Given the description of an element on the screen output the (x, y) to click on. 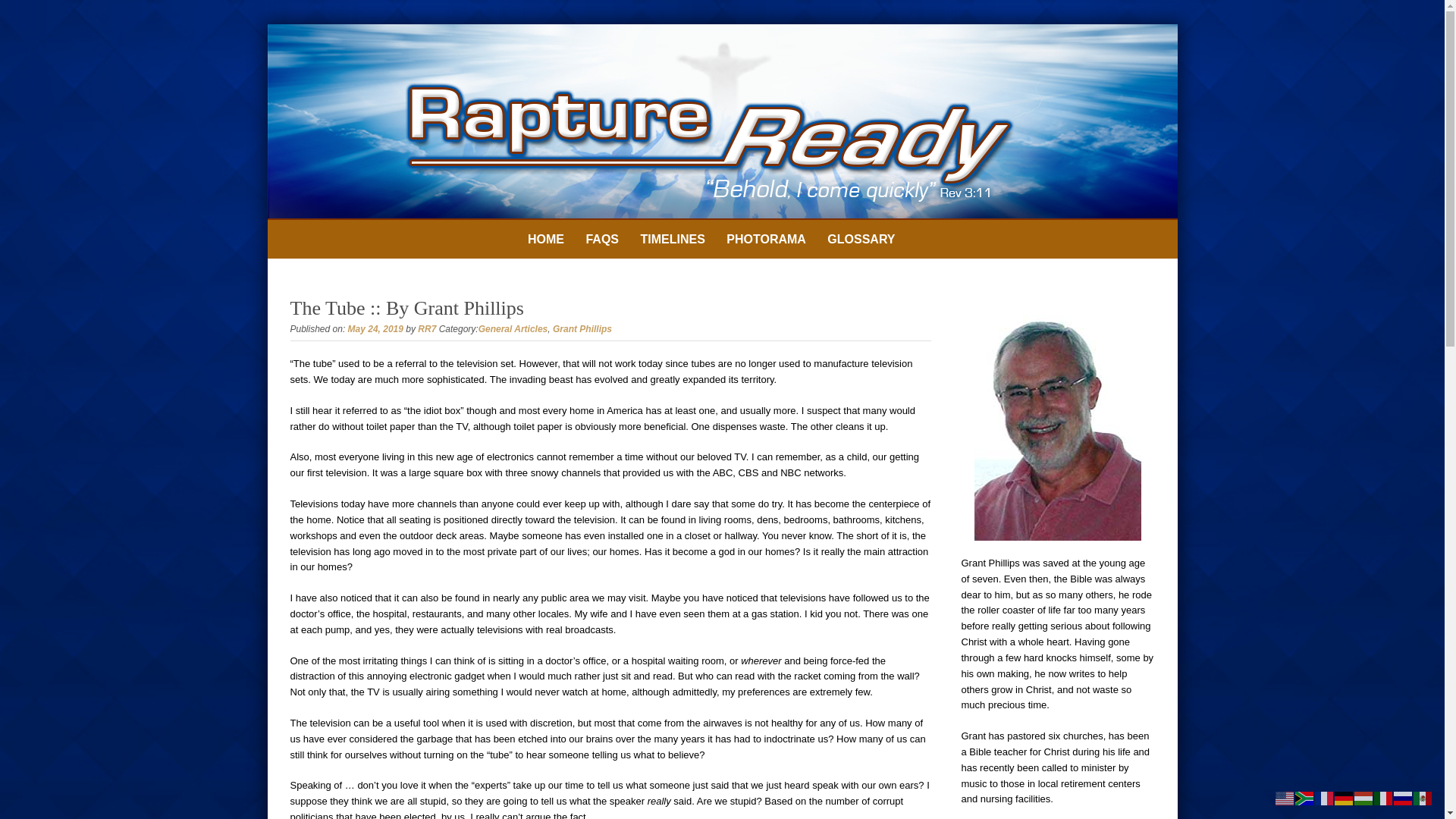
TIMELINES (671, 239)
May 24, 2019 (375, 328)
RR7 (426, 328)
HOME (545, 239)
Grant Phillips (582, 328)
FAQS (601, 239)
GLOSSARY (861, 239)
PHOTORAMA (766, 239)
General Articles (513, 328)
